Given the description of an element on the screen output the (x, y) to click on. 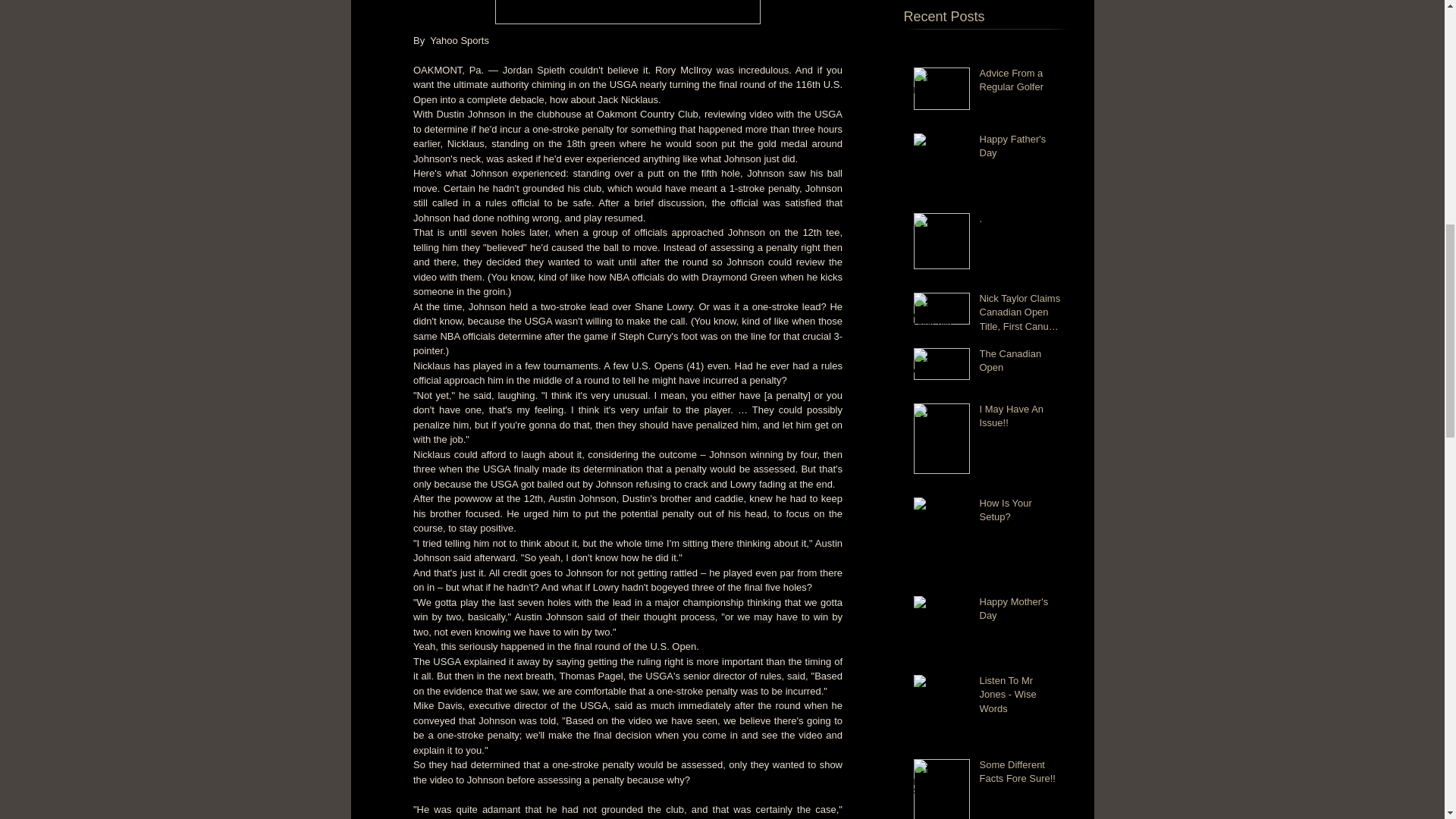
Listen To Mr Jones - Wise Words (1020, 697)
I May Have An Issue!! (1020, 418)
Some Different Facts Fore Sure!! (1020, 774)
The Canadian Open (1020, 363)
. (1020, 221)
Advice From a Regular Golfer (1020, 82)
Happy Mother's Day (1020, 611)
Happy Father's Day (1020, 149)
How Is Your Setup? (1020, 512)
